Given the description of an element on the screen output the (x, y) to click on. 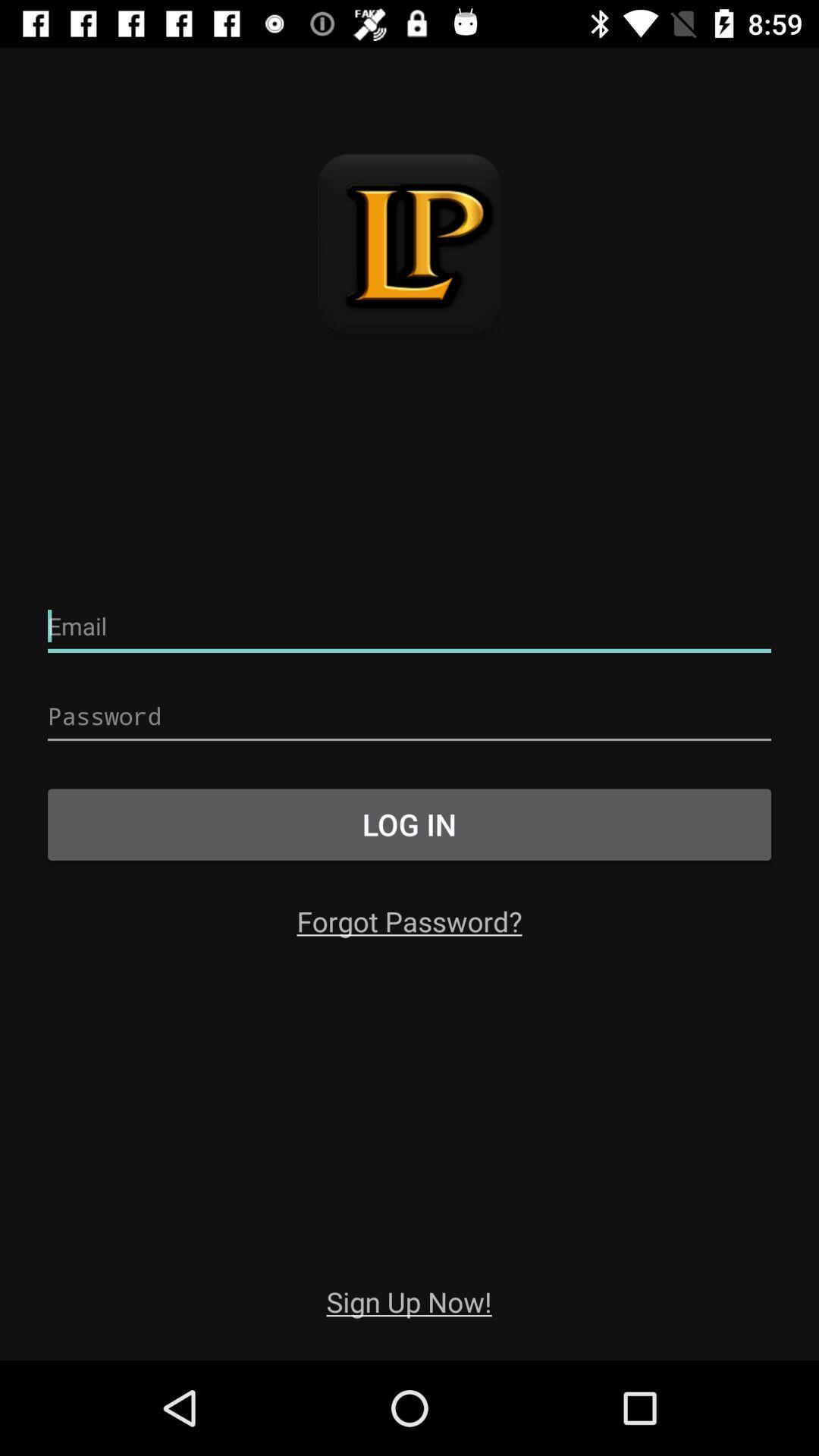
choose sign up now! icon (408, 1301)
